Given the description of an element on the screen output the (x, y) to click on. 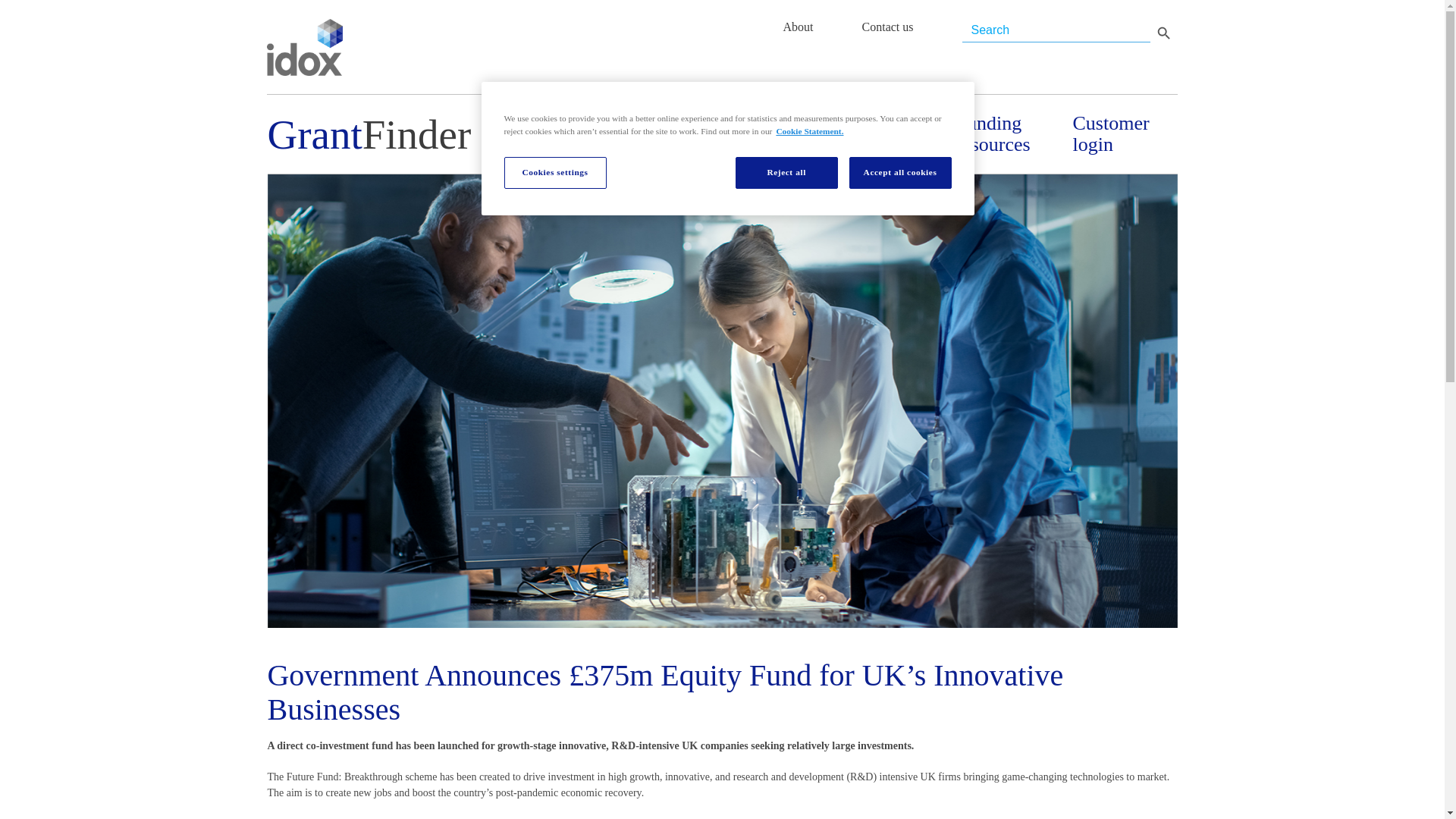
Search Button (1163, 31)
About (798, 26)
Funding resources (1007, 134)
Contact us (887, 26)
NewLogoRetina (304, 47)
Funding services (890, 134)
Customer login (1123, 134)
Funding highlights (774, 134)
